Given the description of an element on the screen output the (x, y) to click on. 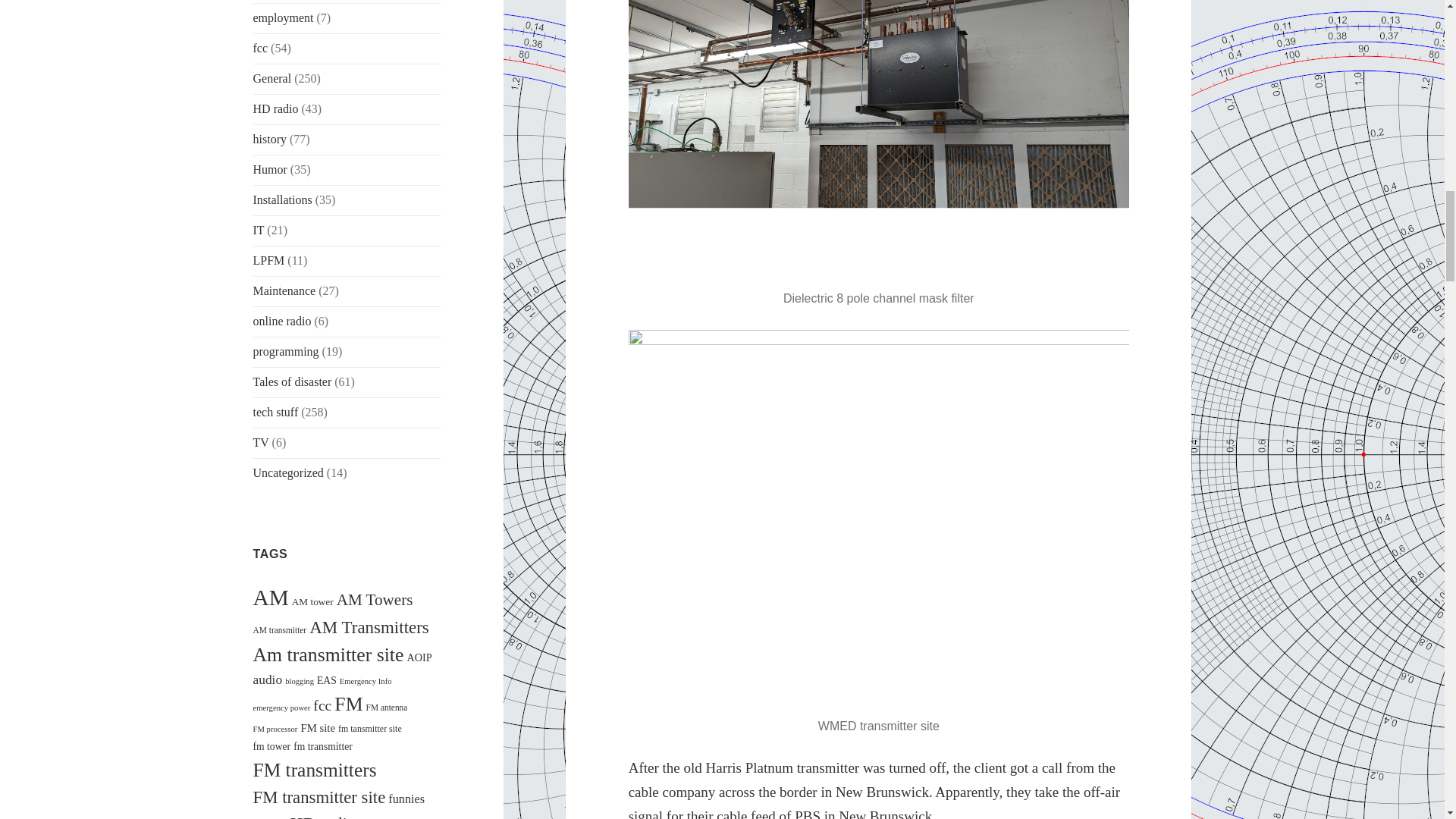
Maintenance (284, 290)
Humor (269, 169)
fcc (260, 47)
Installations (283, 199)
employment (283, 17)
General (272, 78)
history (269, 138)
HD radio (275, 108)
LPFM (269, 259)
